Given the description of an element on the screen output the (x, y) to click on. 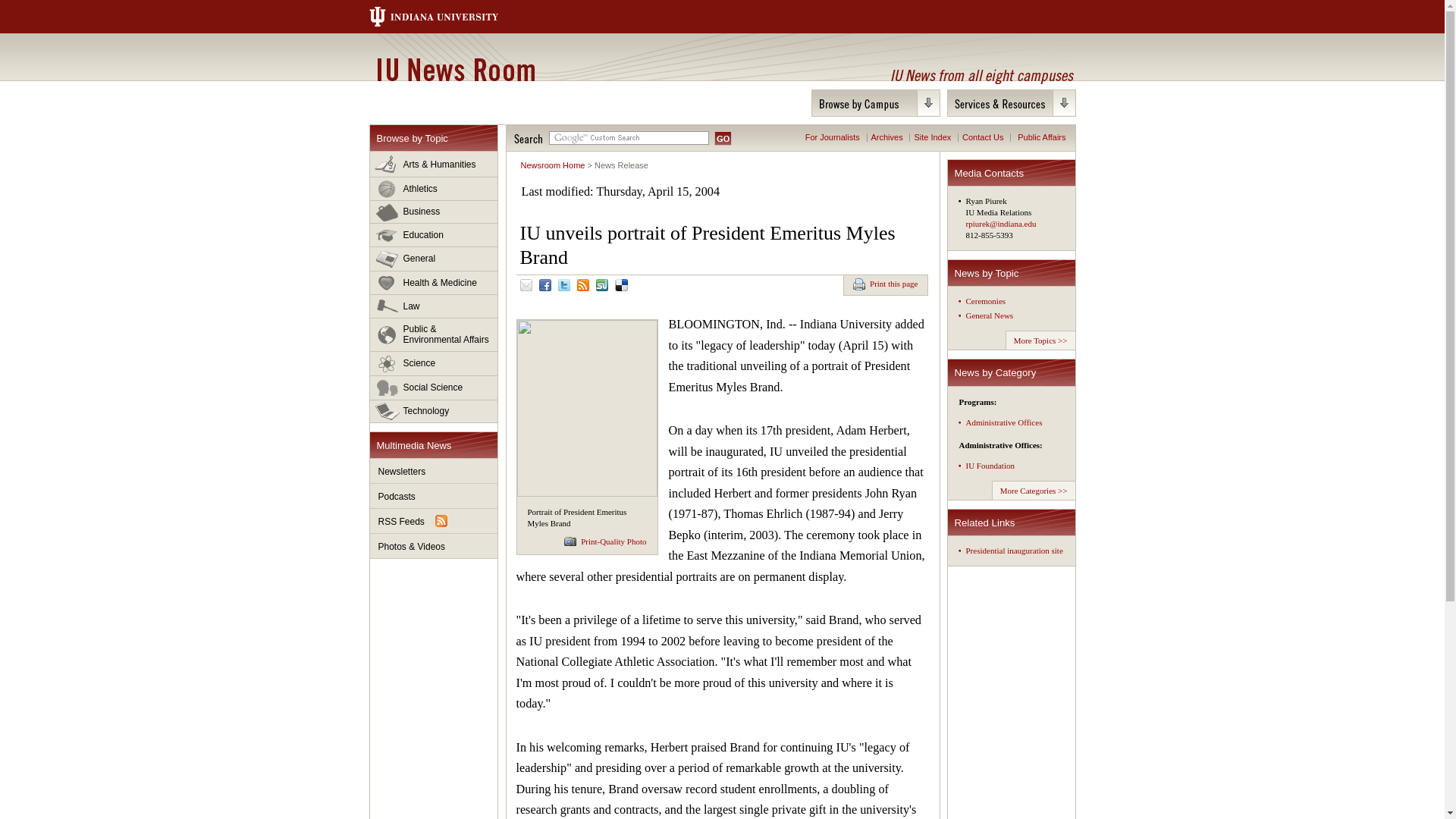
Business (433, 211)
Athletics (433, 188)
IU News Room (455, 69)
IU News Room (455, 69)
Business (433, 211)
Podcasts (433, 496)
Newsletters (433, 471)
Science (433, 363)
General (433, 259)
General (433, 259)
Social Science (433, 387)
Law (433, 306)
RSS Feeds (433, 520)
Technology (433, 411)
Athletics (433, 188)
